Given the description of an element on the screen output the (x, y) to click on. 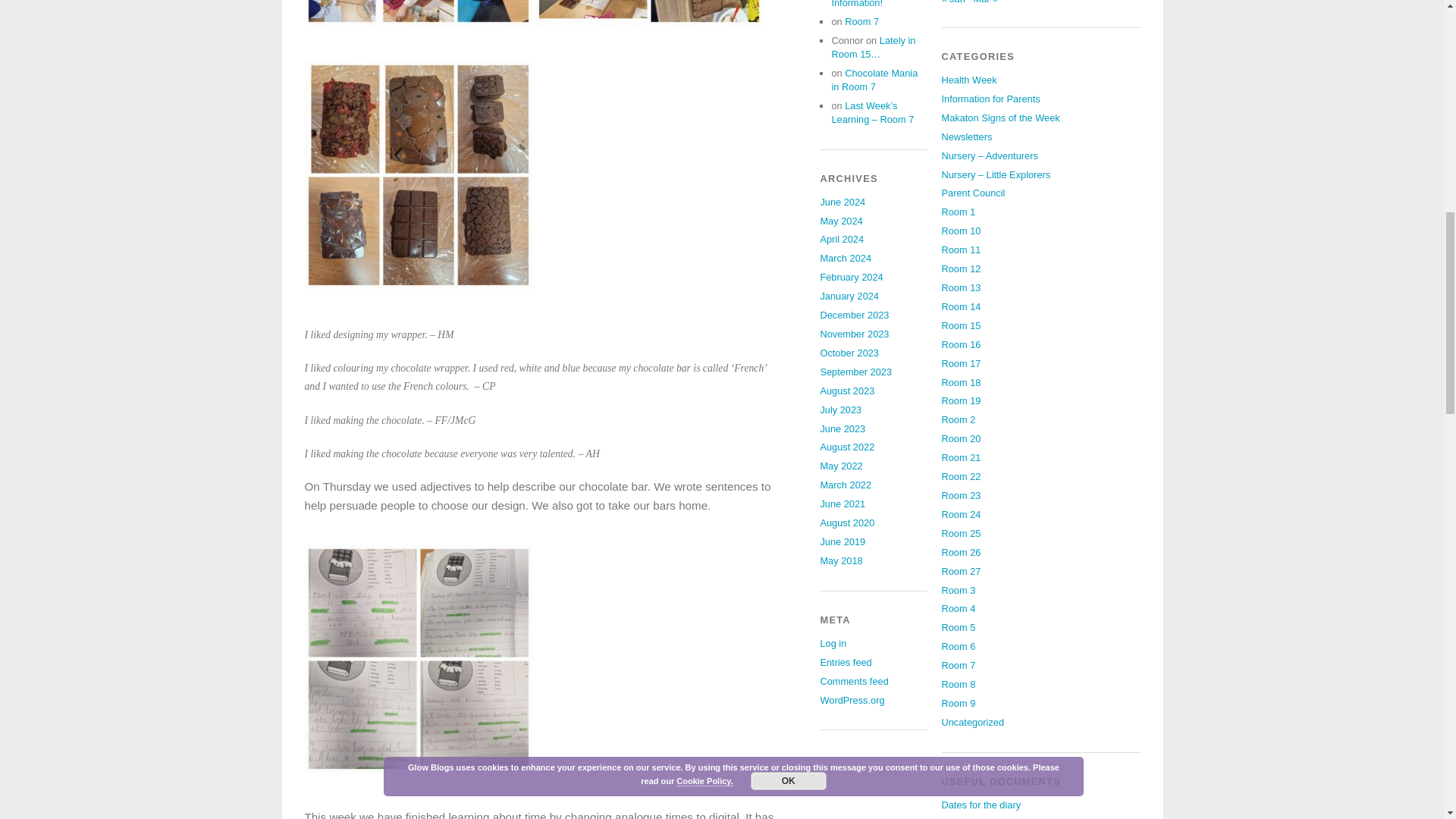
July 2023 (840, 409)
April 2024 (841, 238)
May 2024 (840, 220)
October 2023 (849, 352)
Room 8 Information! (856, 4)
February 2024 (850, 276)
December 2023 (853, 315)
June 2024 (841, 202)
November 2023 (853, 333)
March 2024 (844, 257)
Room 7 (861, 21)
September 2023 (855, 371)
June 2023 (841, 428)
Chocolate Mania in Room 7 (874, 79)
January 2024 (849, 296)
